Given the description of an element on the screen output the (x, y) to click on. 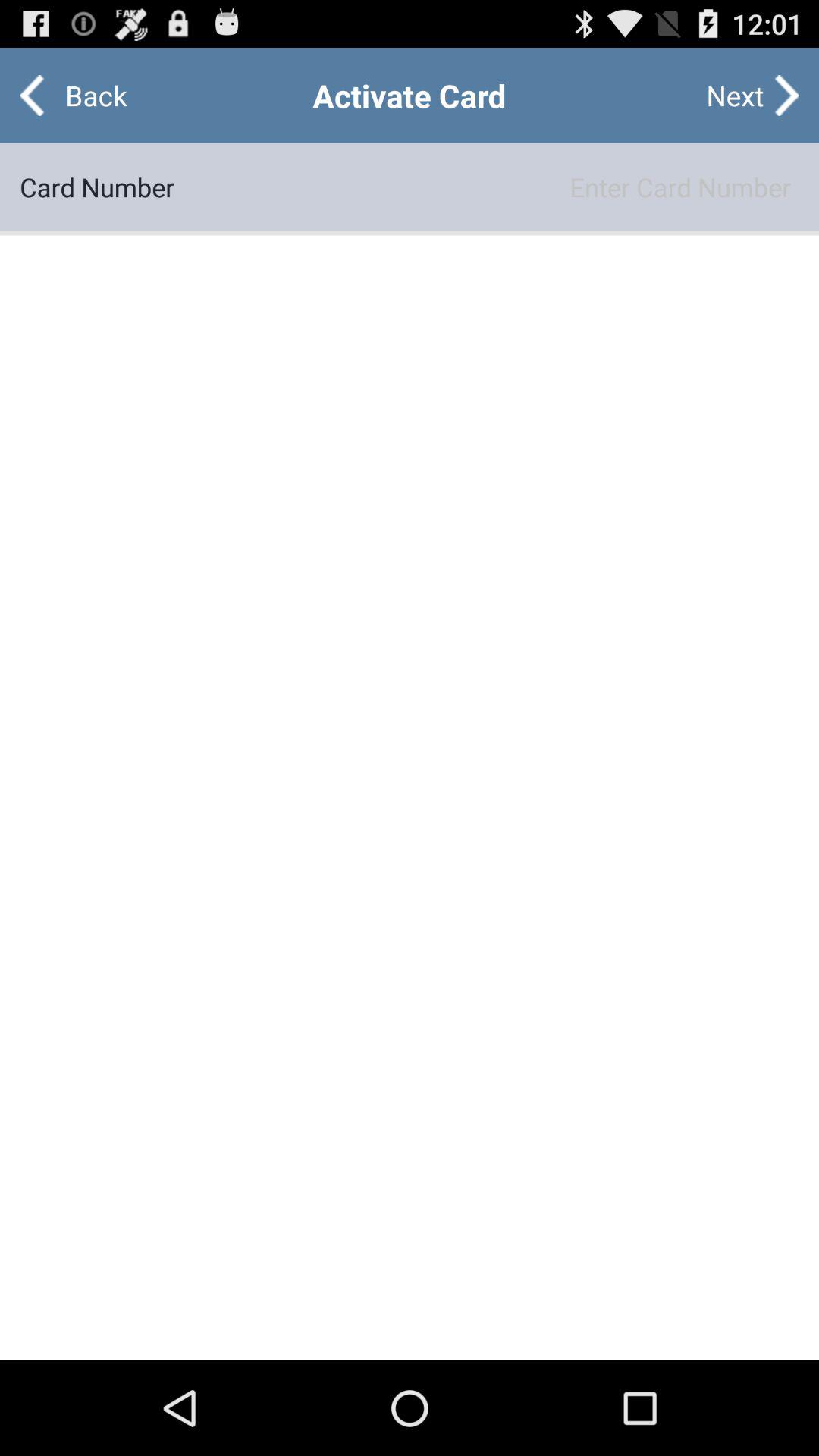
launch the item next to back (735, 95)
